Given the description of an element on the screen output the (x, y) to click on. 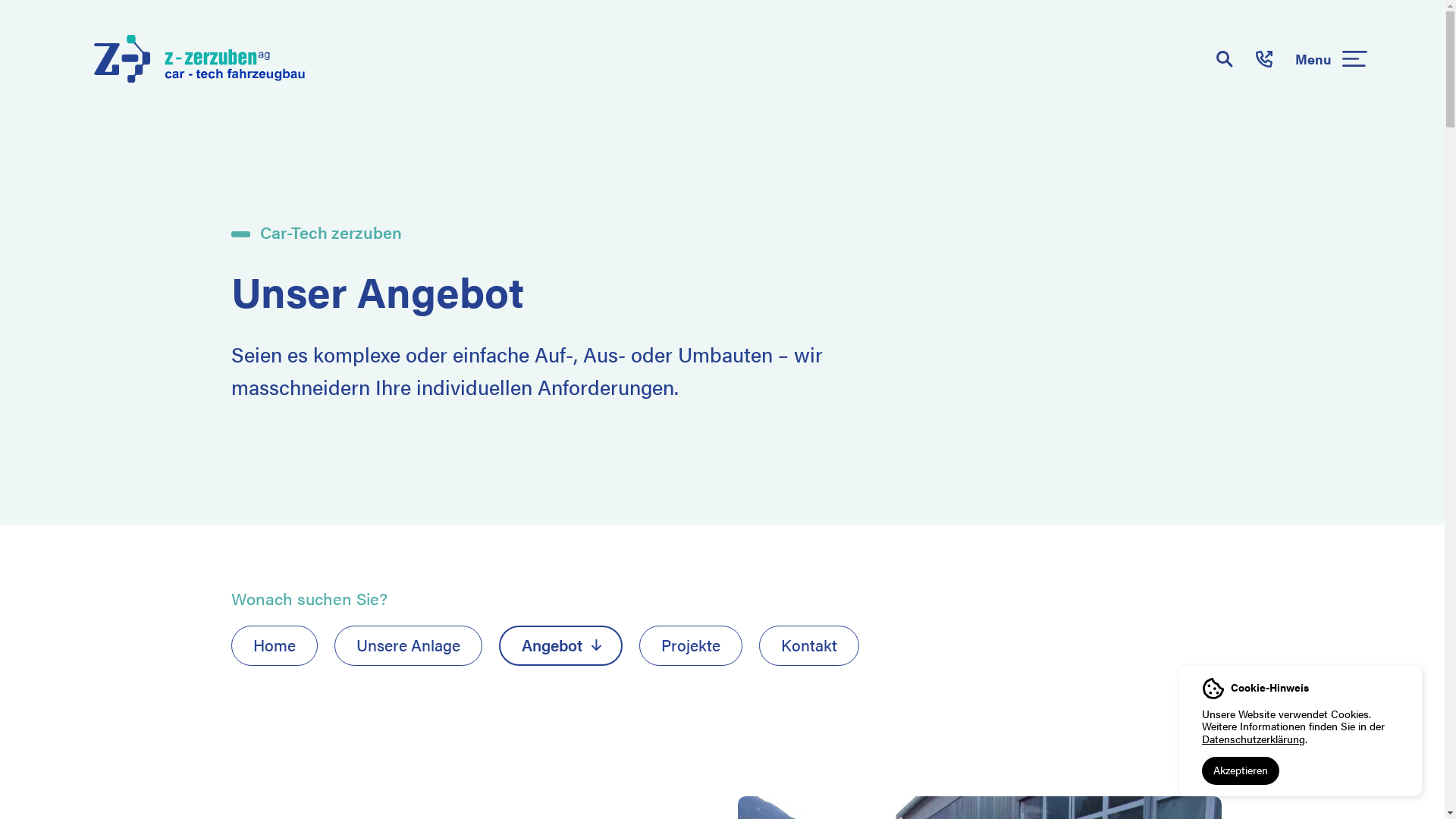
Akzeptieren Element type: text (1240, 770)
Kontakt Element type: text (808, 645)
Angebot Element type: text (560, 645)
Projekte Element type: text (689, 645)
Unsere Anlage Element type: text (407, 645)
Home Element type: text (273, 645)
